Given the description of an element on the screen output the (x, y) to click on. 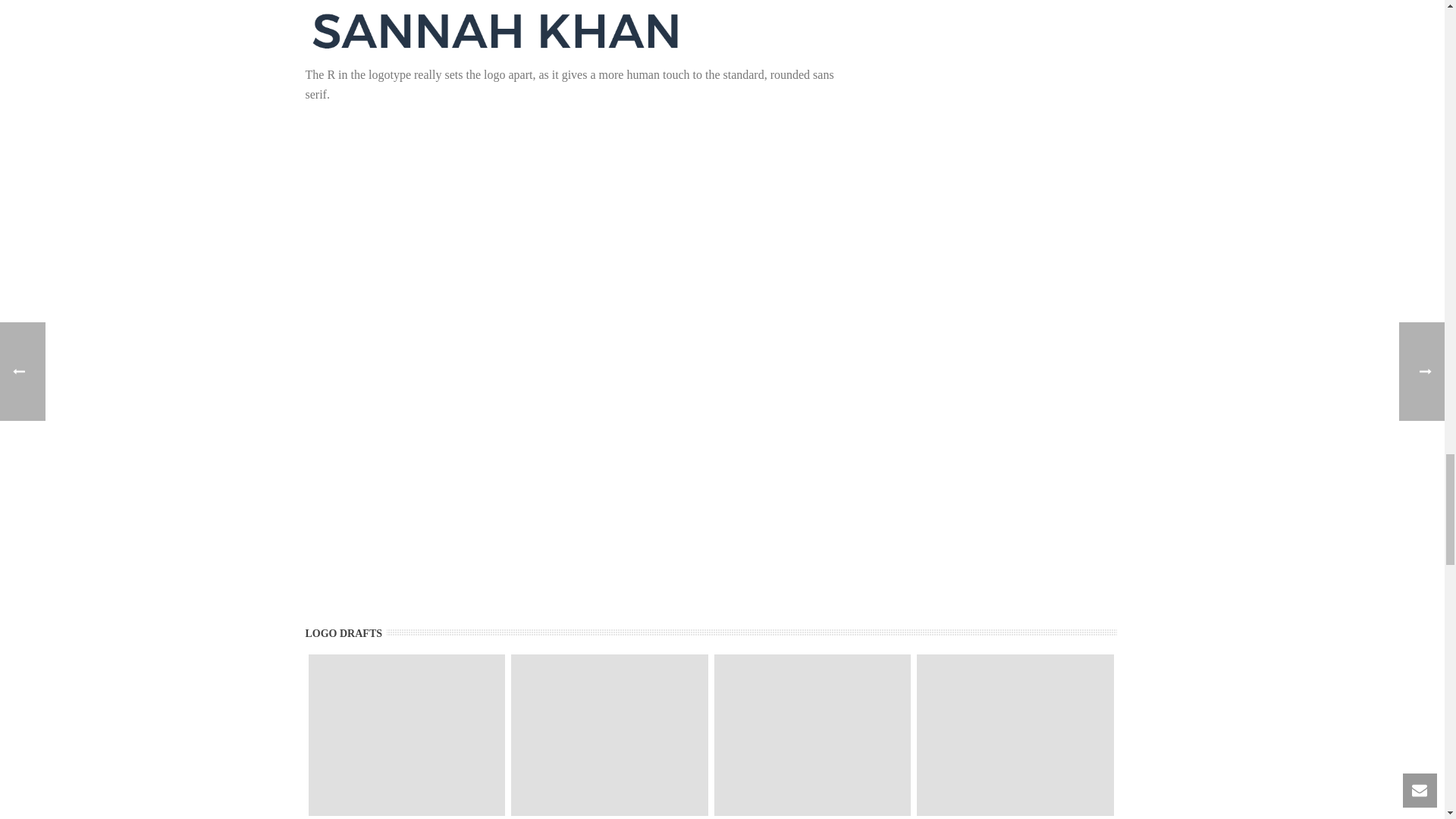
the-initial-brainchild-of-the-logo (812, 734)
too-rigid (1015, 734)
with-rounded-edges-to-be-softer (609, 734)
too-chain-like (406, 734)
